Given the description of an element on the screen output the (x, y) to click on. 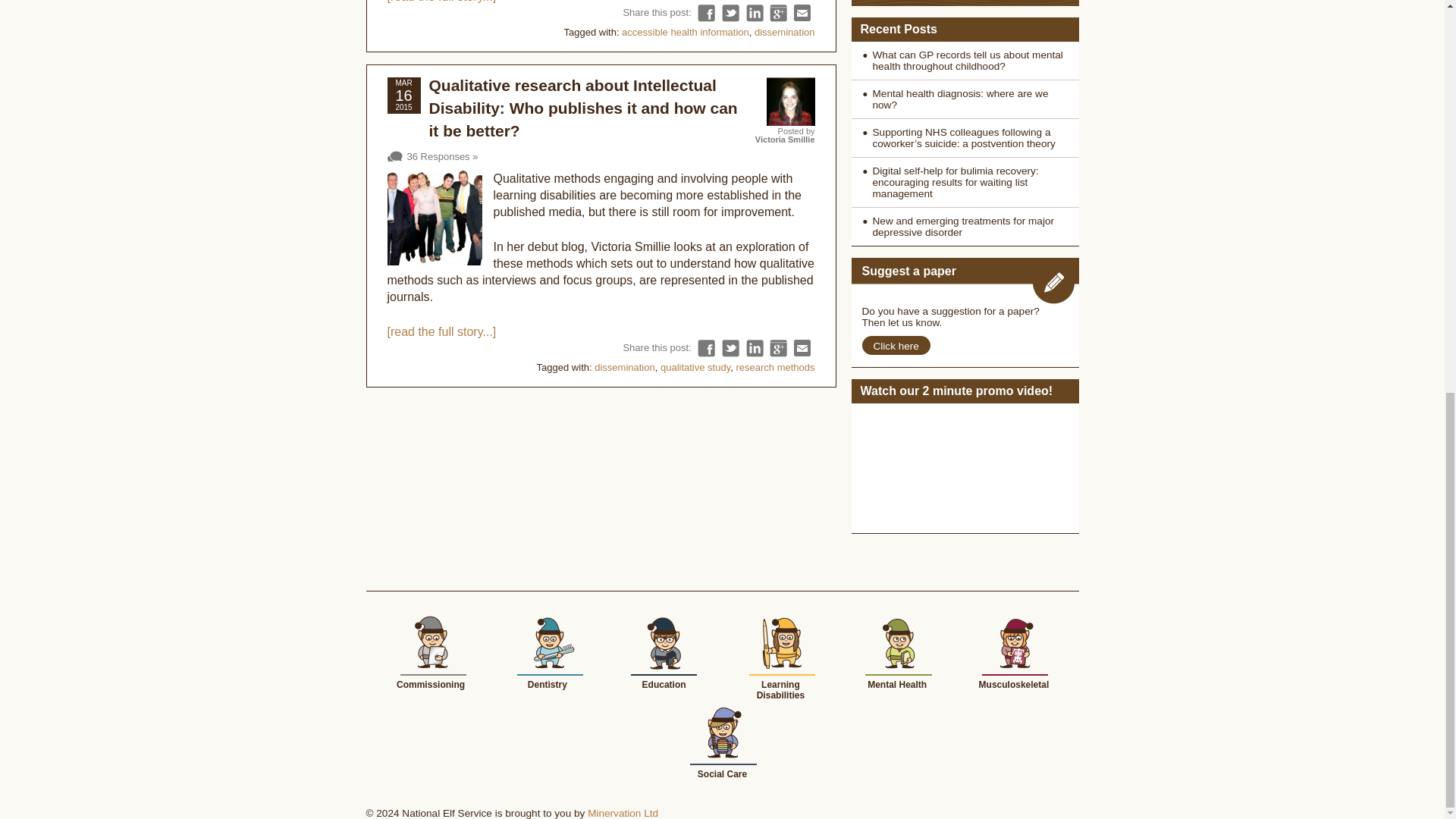
Tweet this on Twitter (730, 13)
Share on Facebook (705, 13)
Posts by Victoria Smillie (785, 139)
Share via email (801, 13)
Share on LinkedIn (753, 13)
